Given the description of an element on the screen output the (x, y) to click on. 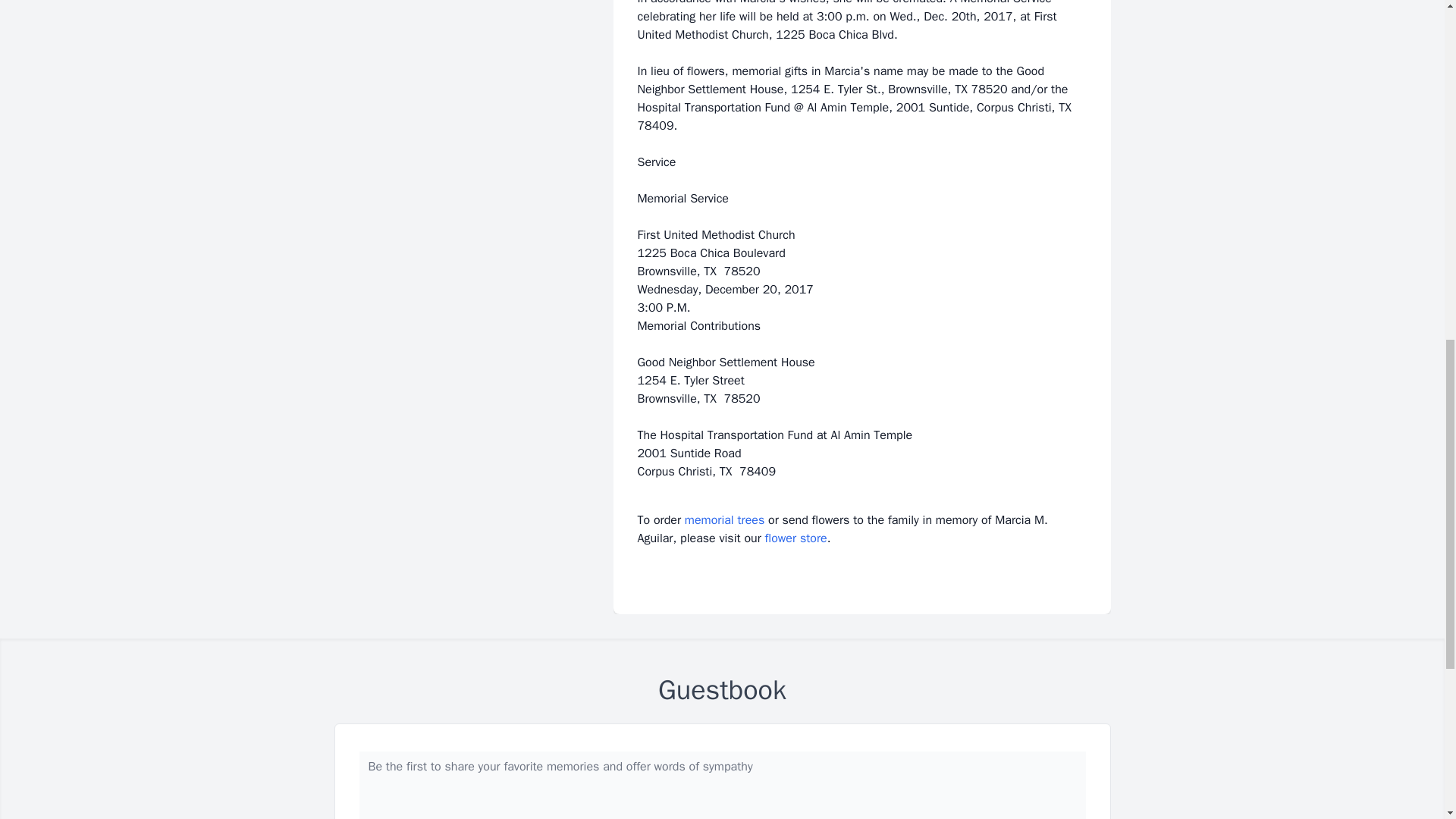
memorial trees (724, 519)
flower store (796, 538)
